Given the description of an element on the screen output the (x, y) to click on. 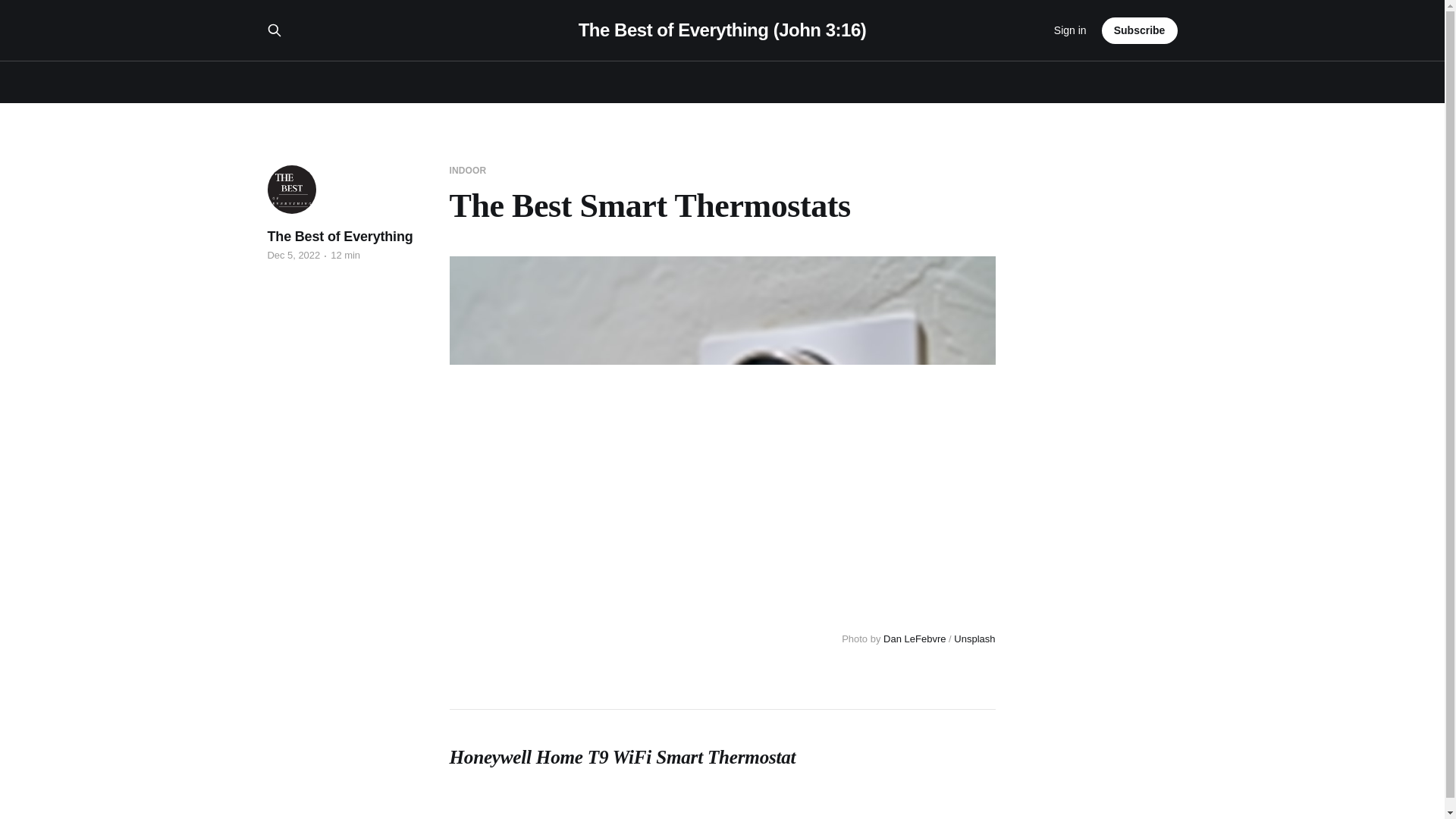
Unsplash (973, 638)
INDOOR (467, 170)
Sign in (1070, 30)
Dan LeFebvre (913, 638)
Subscribe (1139, 29)
The Best of Everything (339, 236)
